Given the description of an element on the screen output the (x, y) to click on. 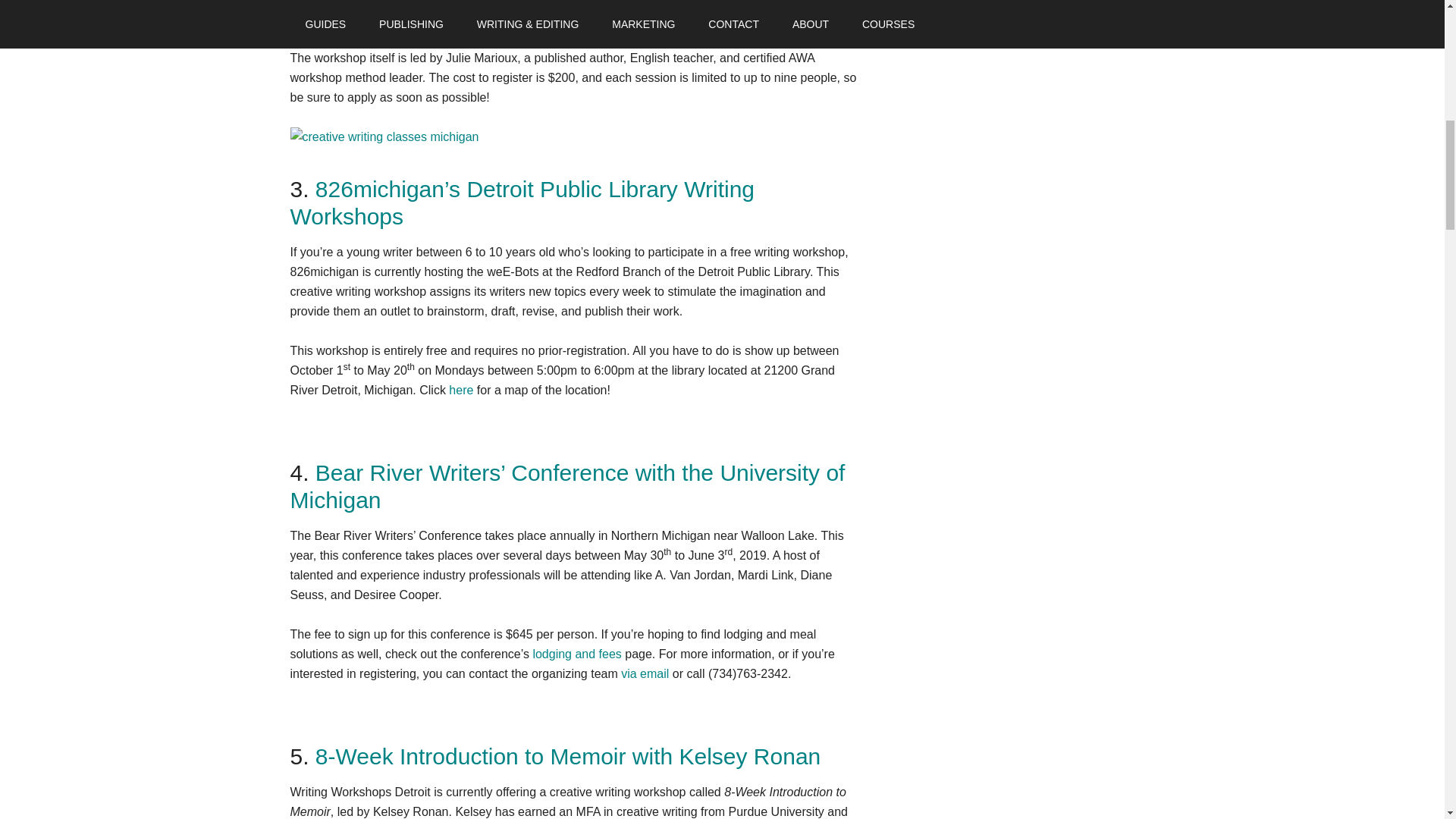
here (460, 390)
via email (644, 673)
lodging and fees (576, 653)
8-Week Introduction to Memoir with Kelsey Ronan (568, 756)
